Given the description of an element on the screen output the (x, y) to click on. 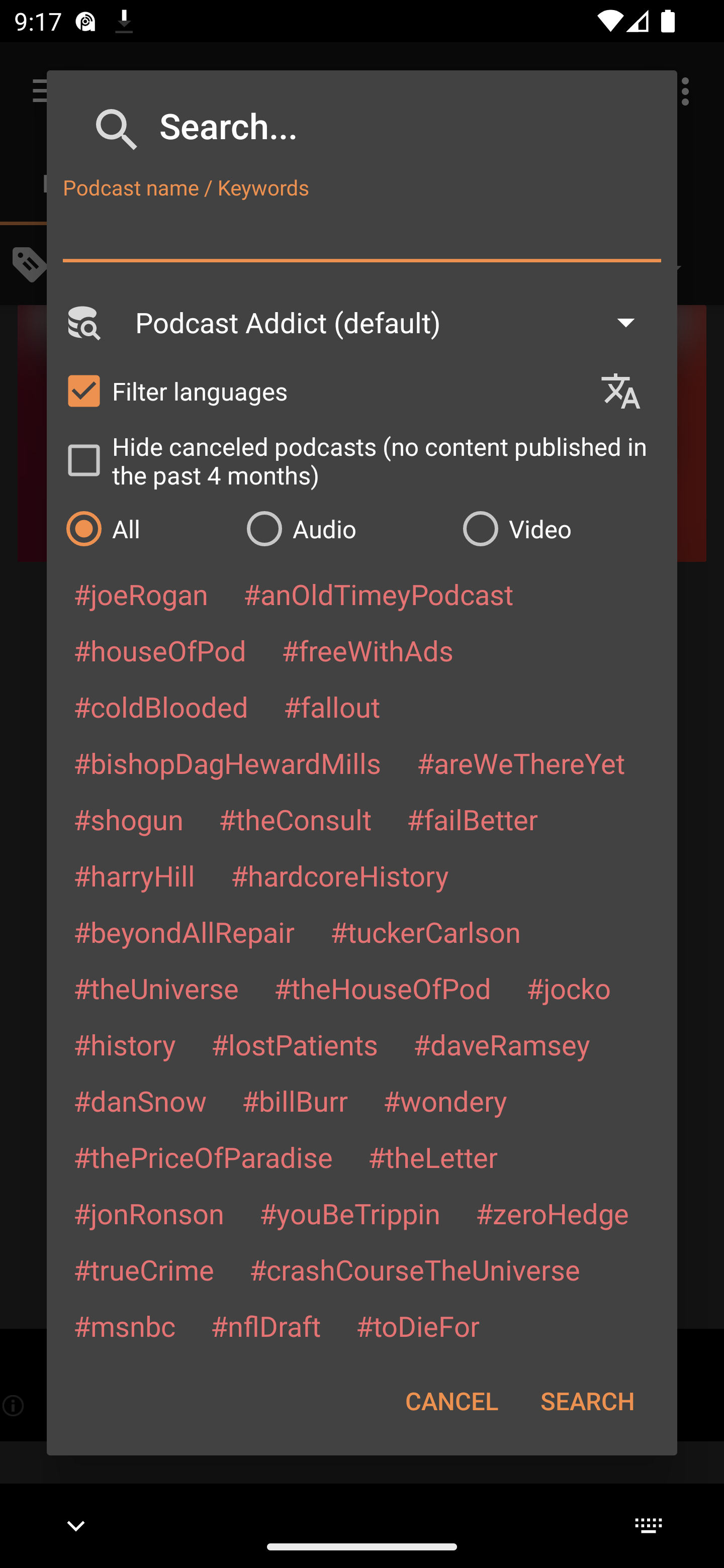
Podcast name / Keywords (361, 234)
Search Engine (82, 322)
Podcast Addict (default) (394, 322)
Languages selection (629, 390)
Filter languages (322, 390)
All (145, 528)
Audio (344, 528)
Video (560, 528)
#joeRogan (140, 594)
#anOldTimeyPodcast (378, 594)
#houseOfPod (159, 650)
#freeWithAds (367, 650)
#coldBlooded (160, 705)
#fallout (331, 705)
#bishopDagHewardMills (227, 762)
#areWeThereYet (521, 762)
#shogun (128, 818)
#theConsult (294, 818)
#failBetter (471, 818)
#harryHill (134, 875)
#hardcoreHistory (339, 875)
#beyondAllRepair (184, 931)
#tuckerCarlson (425, 931)
#theUniverse (155, 987)
#theHouseOfPod (381, 987)
#jocko (568, 987)
#history (124, 1044)
#lostPatients (294, 1044)
#daveRamsey (501, 1044)
#danSnow (139, 1100)
#billBurr (294, 1100)
#wondery (444, 1100)
#thePriceOfParadise (203, 1157)
#theLetter (432, 1157)
#jonRonson (148, 1213)
#youBeTrippin (349, 1213)
#zeroHedge (552, 1213)
#trueCrime (143, 1268)
#crashCourseTheUniverse (414, 1268)
#msnbc (124, 1325)
#nflDraft (265, 1325)
#toDieFor (417, 1325)
CANCEL (451, 1400)
SEARCH (587, 1400)
